Given the description of an element on the screen output the (x, y) to click on. 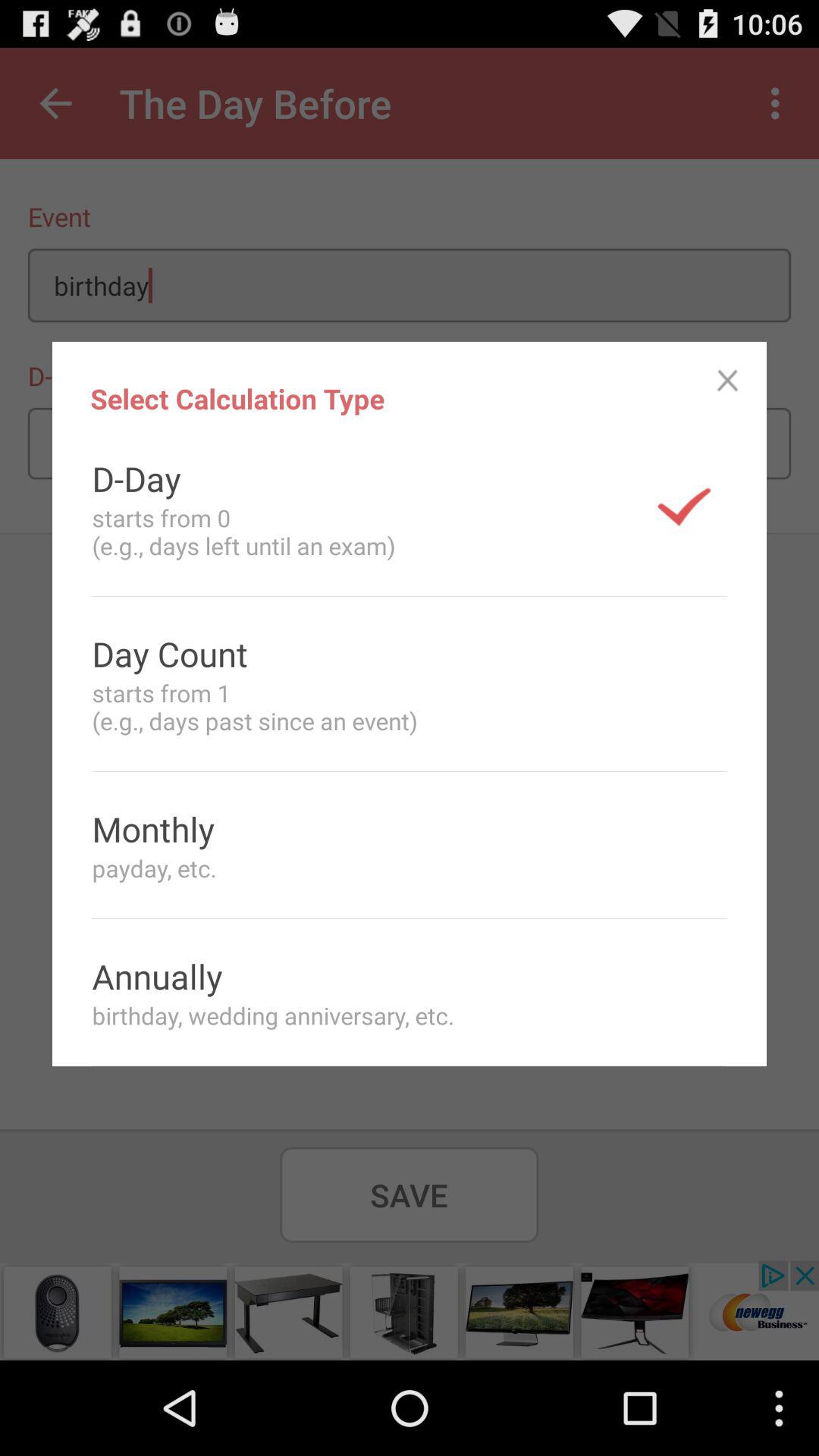
launch item next to the select calculation type (727, 380)
